Given the description of an element on the screen output the (x, y) to click on. 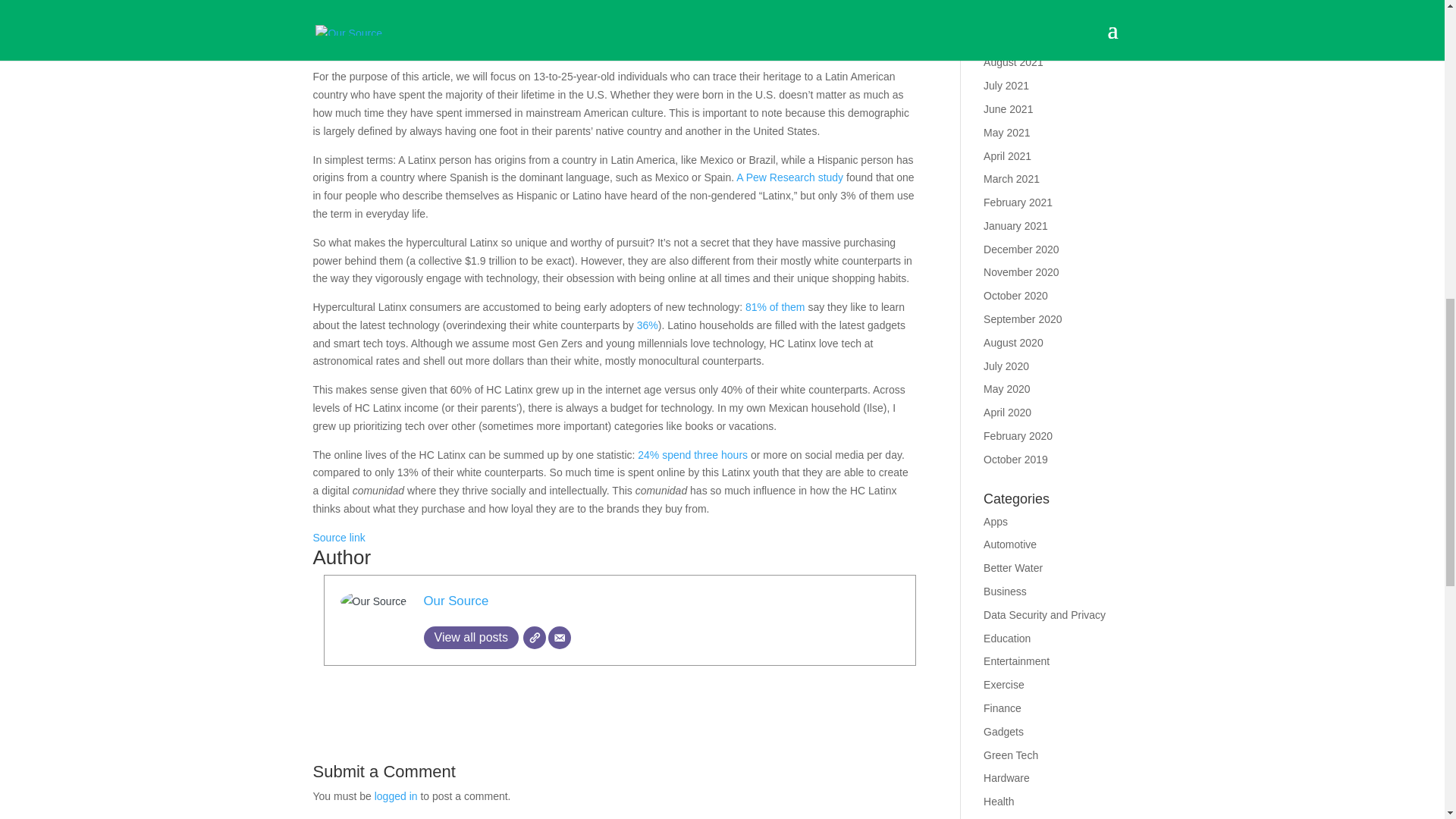
logged in (395, 796)
Source link (339, 537)
View all posts (470, 637)
Our Source (455, 600)
A Pew Research study (789, 177)
View all posts (470, 637)
Our Source (455, 600)
